Given the description of an element on the screen output the (x, y) to click on. 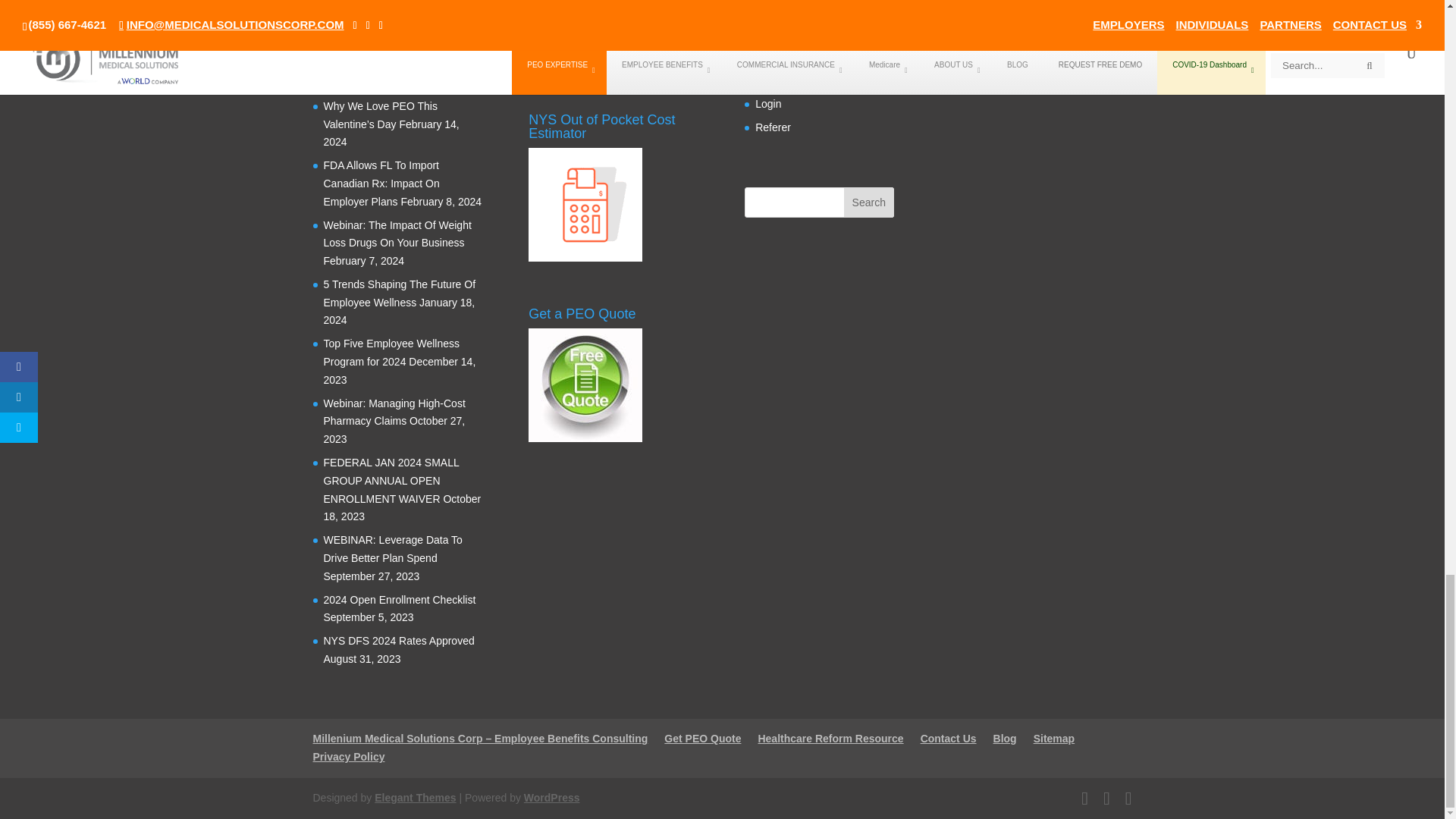
GO (892, 6)
HOME (480, 738)
Search (868, 202)
Premium WordPress Themes (414, 797)
